Given the description of an element on the screen output the (x, y) to click on. 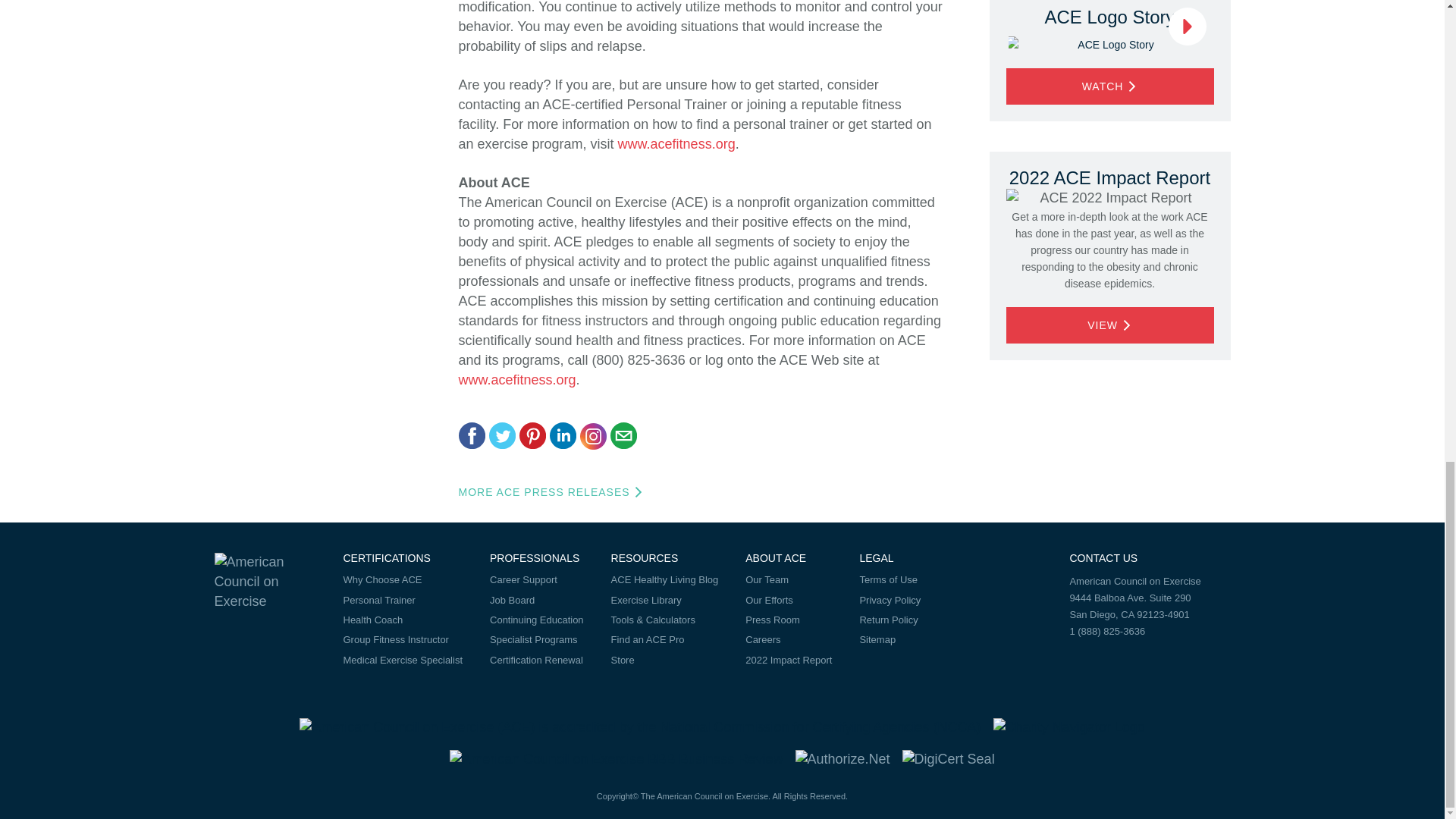
Charity Navigator Logo (1068, 726)
Click to verify BBB accreditation and to see a BBB report. (616, 758)
